Given the description of an element on the screen output the (x, y) to click on. 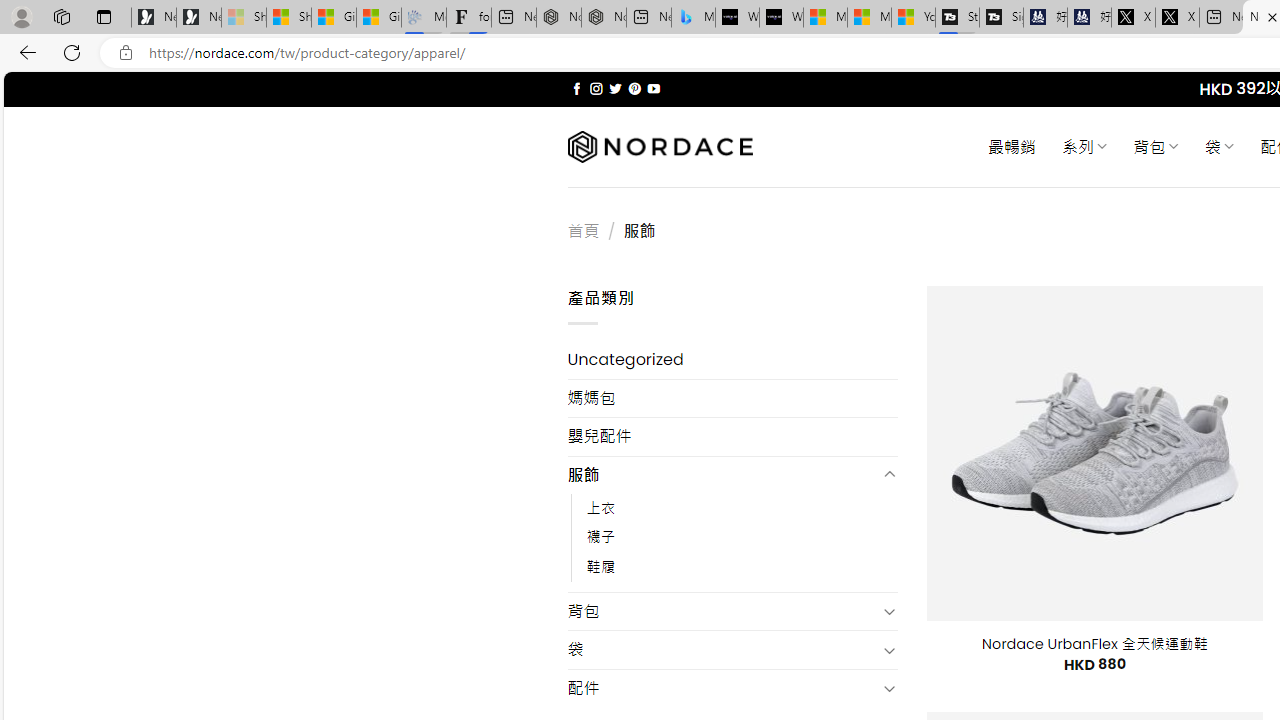
Streaming Coverage | T3 (957, 17)
Gilma and Hector both pose tropical trouble for Hawaii (378, 17)
